Given the description of an element on the screen output the (x, y) to click on. 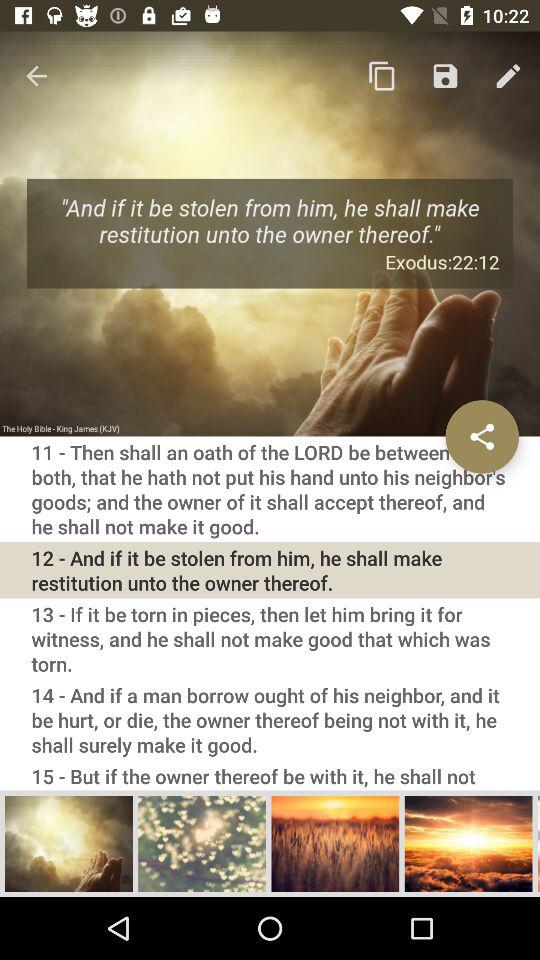
shows one of the option button (335, 843)
